Given the description of an element on the screen output the (x, y) to click on. 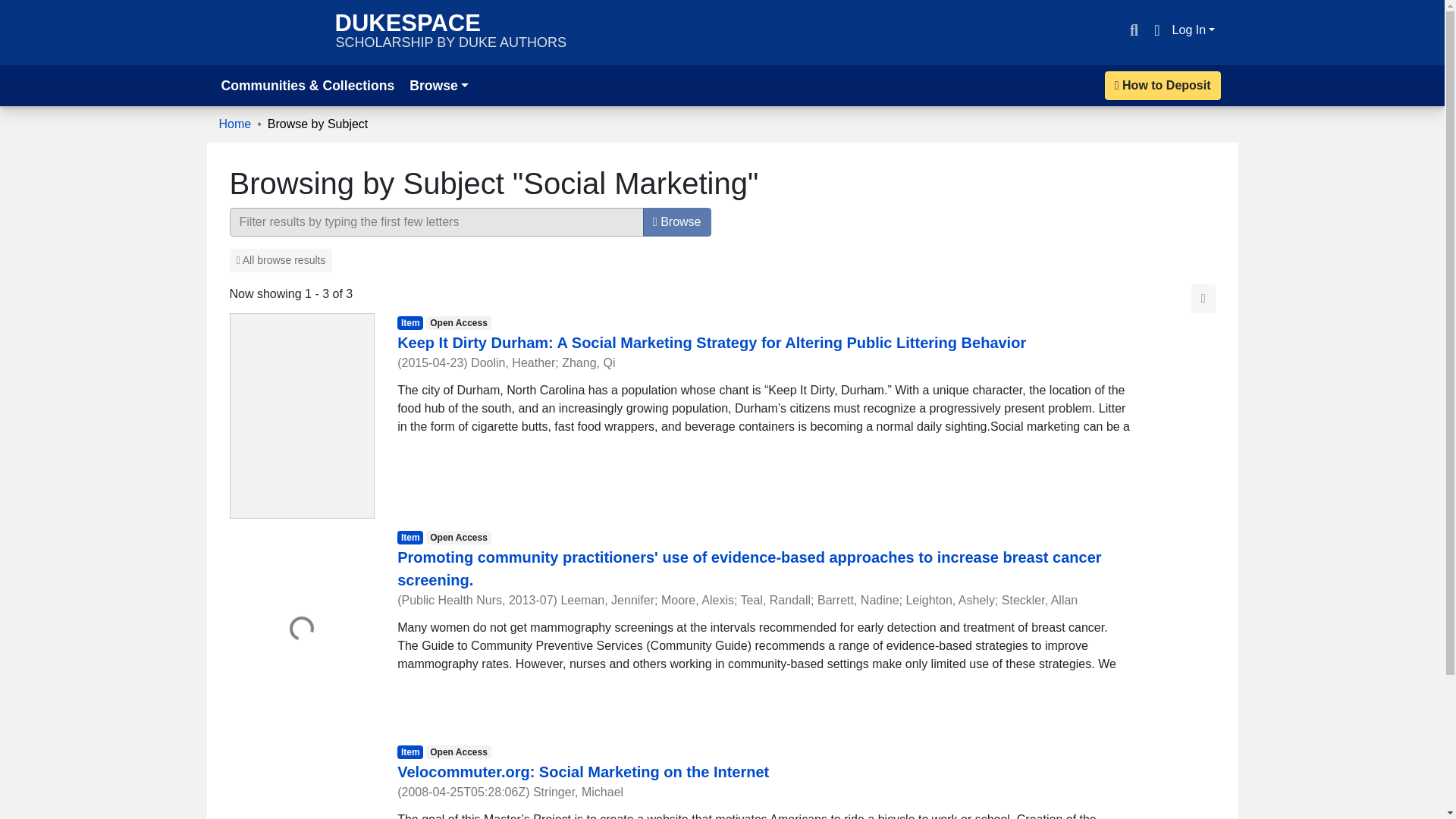
All browse results (279, 259)
Search (1133, 30)
Log In (1193, 29)
Browse (677, 222)
Skip to Main Content (18, 9)
Language switch (1156, 30)
Duke University Libraries (269, 32)
